Given the description of an element on the screen output the (x, y) to click on. 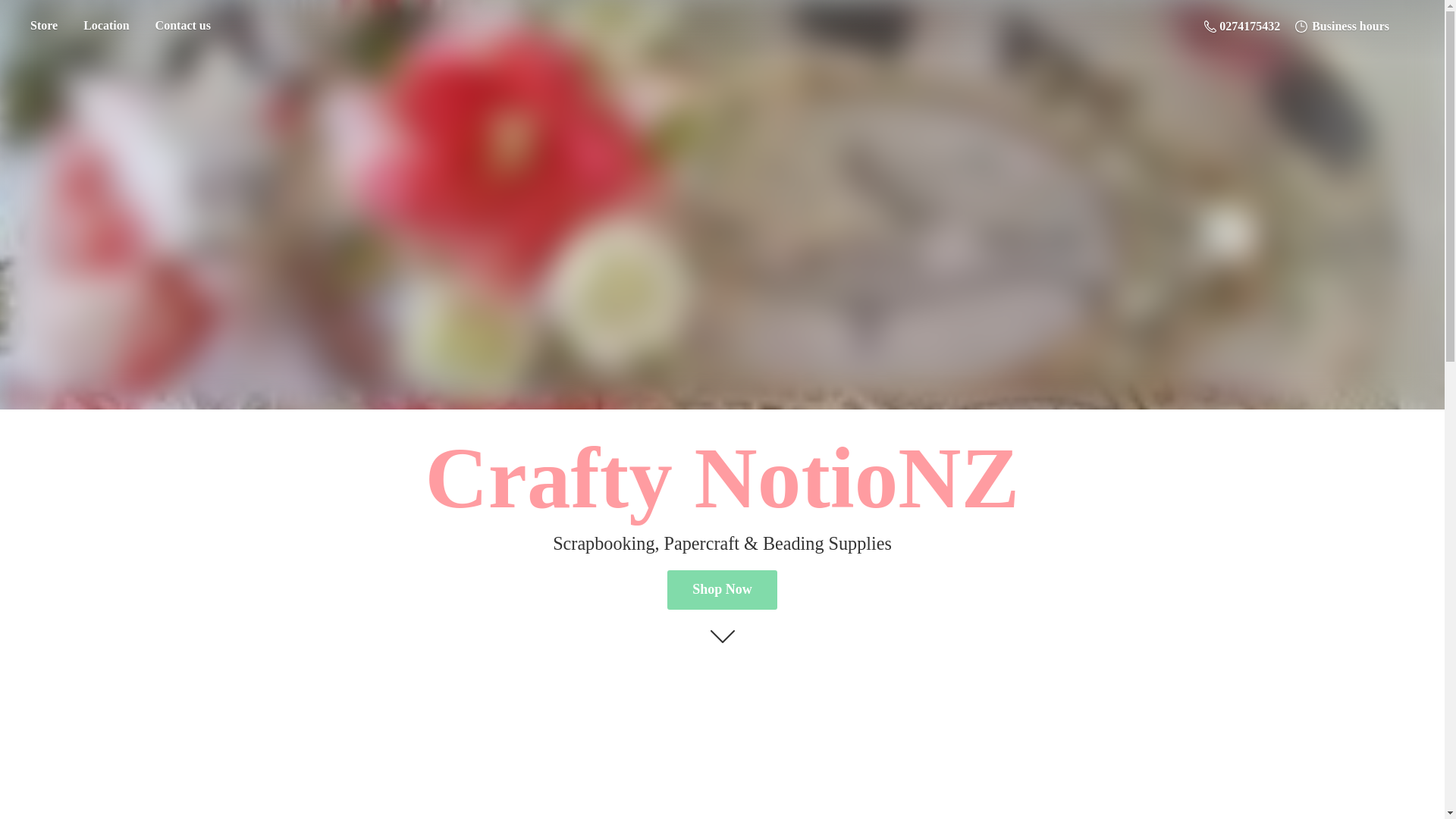
0274175432 (1241, 26)
Contact us (183, 25)
Store (43, 25)
Business hours (1341, 26)
Location (105, 25)
Shop Now (721, 589)
